Given the description of an element on the screen output the (x, y) to click on. 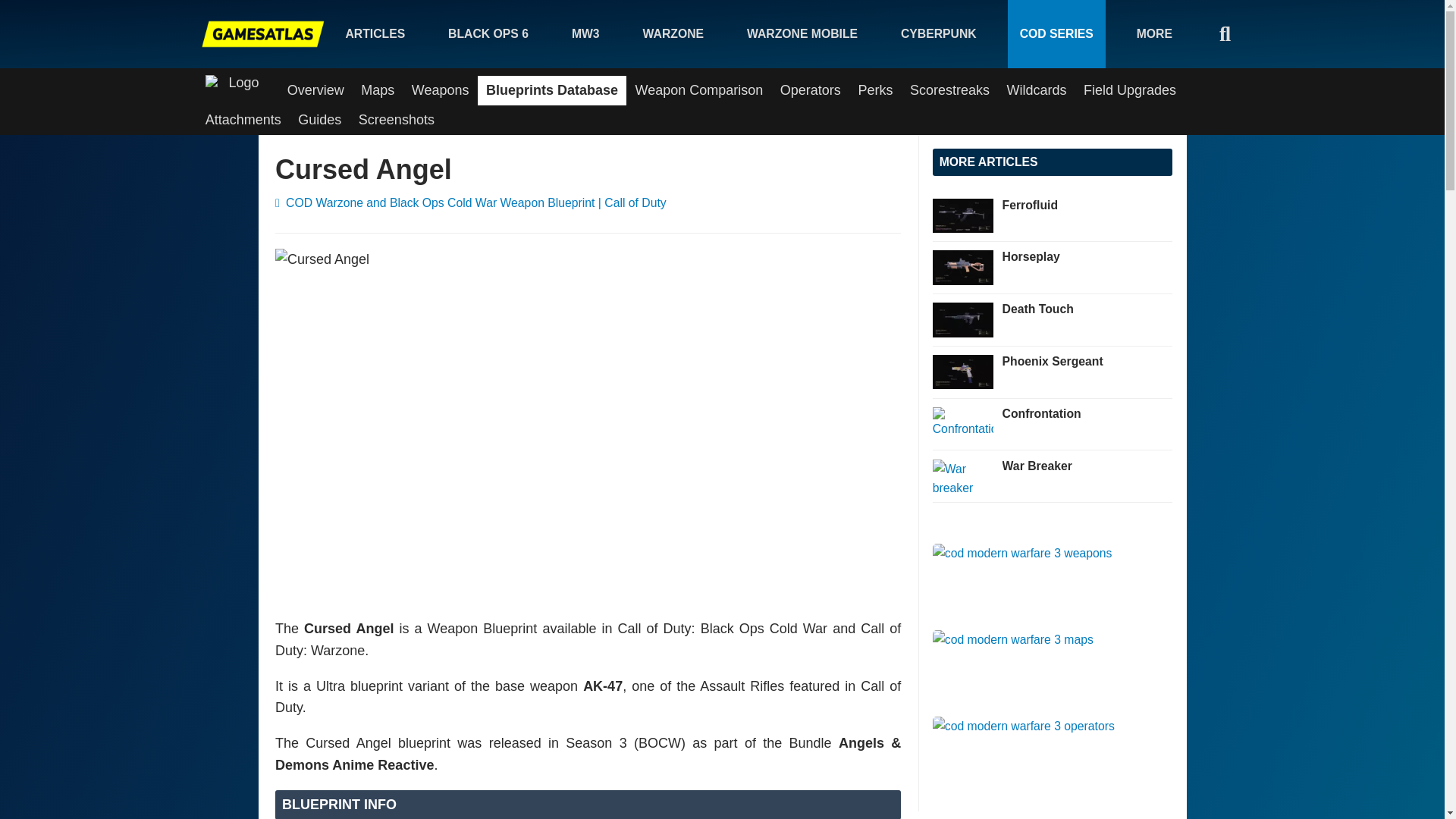
Games Atlas (263, 33)
BLACK OPS 6 (487, 33)
Games Atlas (263, 33)
CYBERPUNK (938, 33)
WARZONE MOBILE (802, 33)
WARZONE (673, 33)
ARTICLES (374, 33)
